Given the description of an element on the screen output the (x, y) to click on. 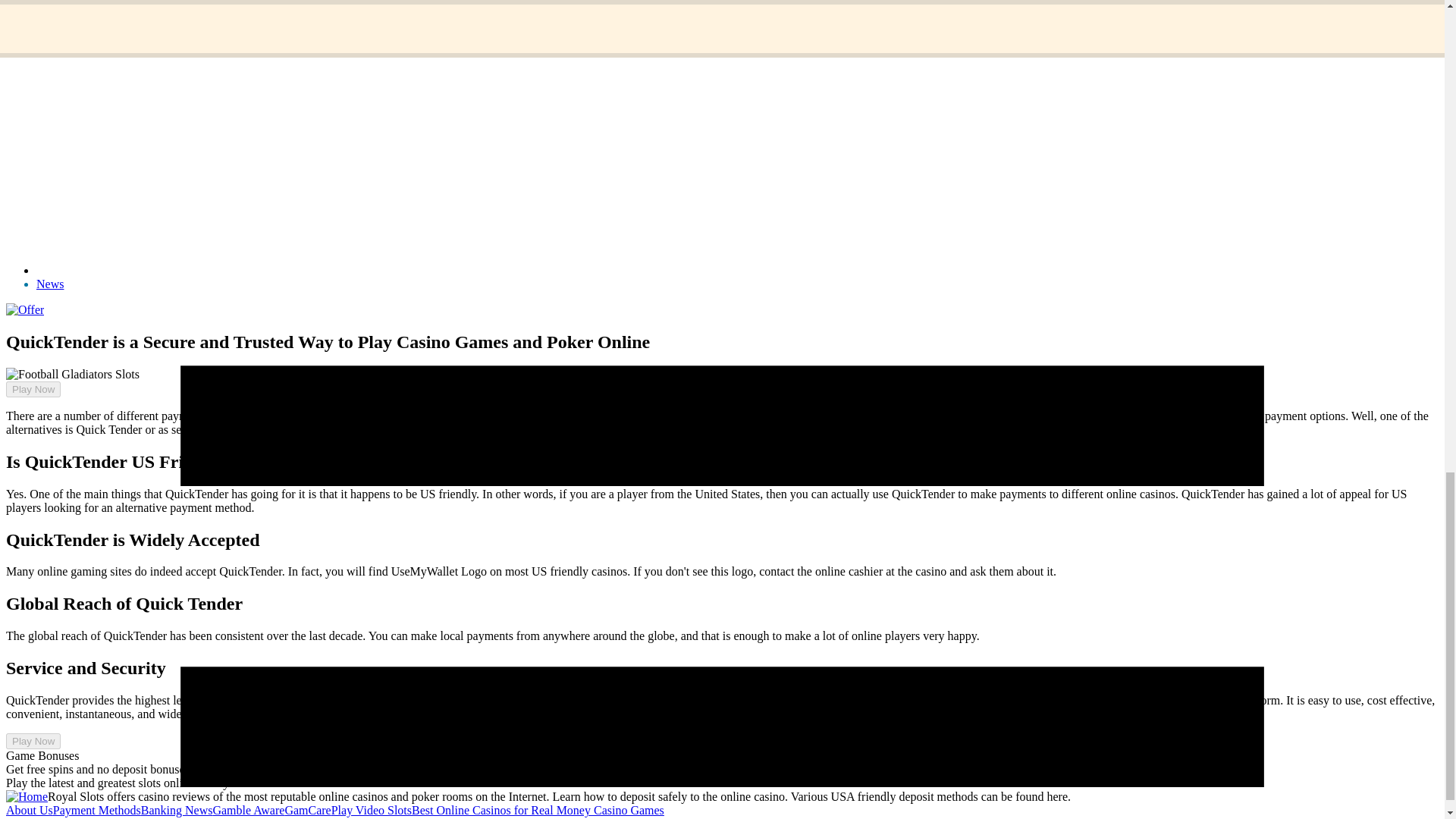
News (50, 283)
Play Video Slots (371, 809)
UseMyWallet (410, 429)
Banking News (176, 809)
GamCare (306, 809)
Gamble Aware (247, 809)
Play Now (27, 401)
Best Online Casinos for Real Money Casino Games (537, 809)
About Us (28, 809)
Payment Methods (96, 809)
NETeller (497, 415)
Play Now (33, 741)
Play Now (33, 389)
